Given the description of an element on the screen output the (x, y) to click on. 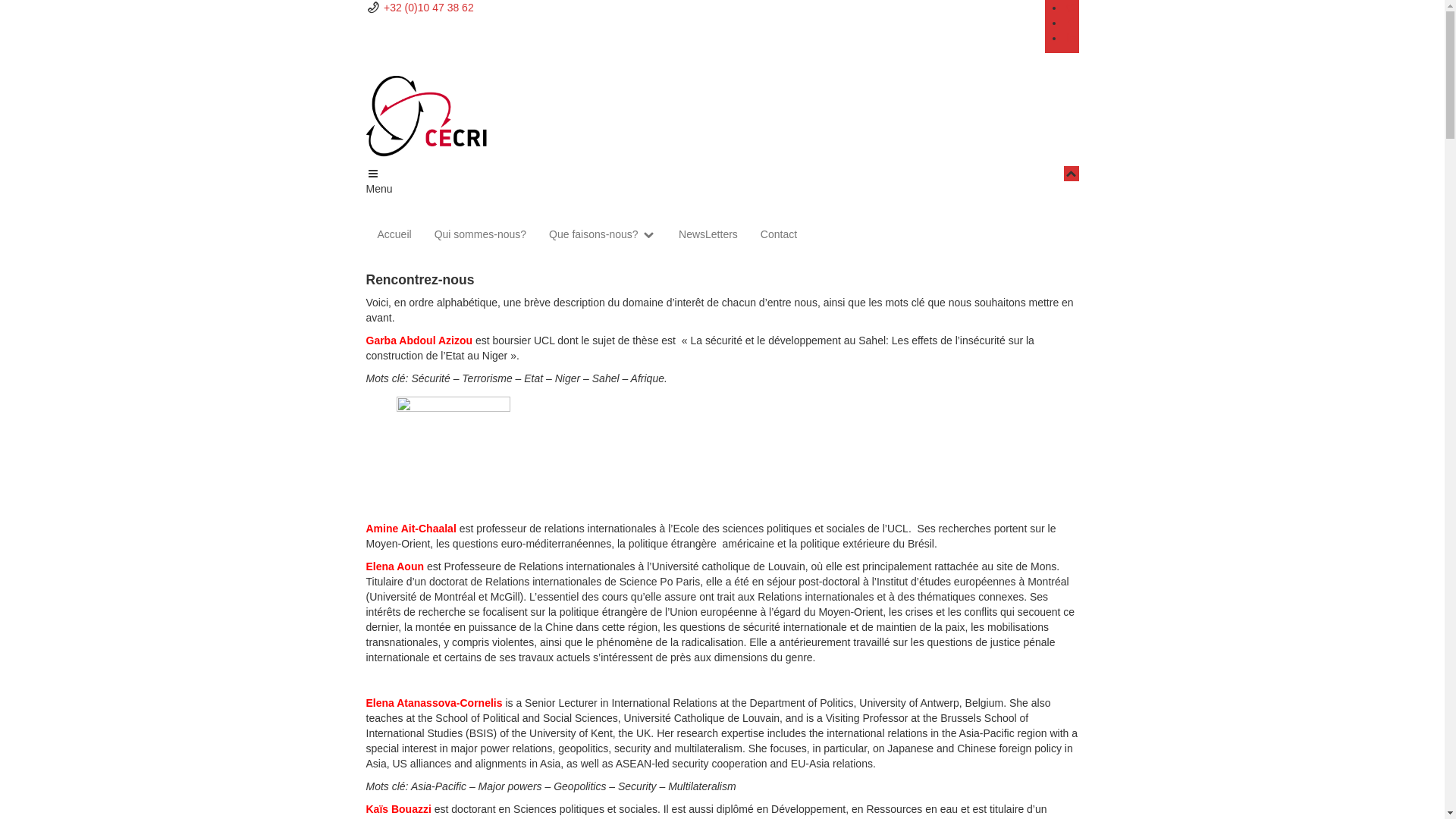
Contact Element type: text (778, 234)
CECRI Element type: hover (721, 137)
+32 (0)10 47 38 62 Element type: text (428, 7)
Accueil Element type: text (393, 234)
Twitter Element type: hover (1071, 7)
Facebook Element type: hover (1071, 22)
Que faisons-nous? Element type: text (602, 234)
NewsLetters Element type: text (708, 234)
Qui sommes-nous? Element type: text (480, 234)
Scroll To Top Element type: hover (1071, 173)
Linkedin Element type: hover (1071, 37)
